Given the description of an element on the screen output the (x, y) to click on. 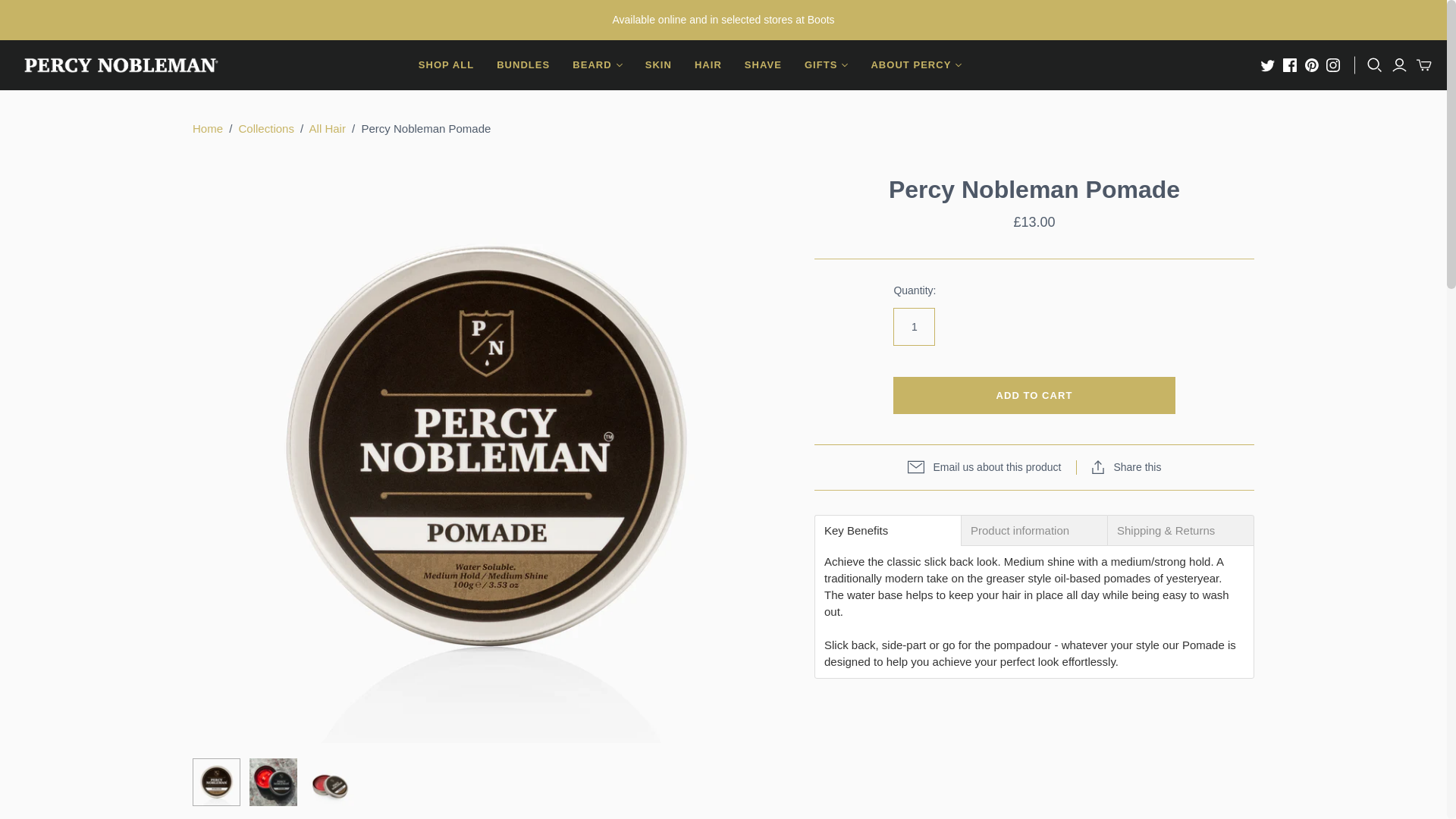
BUNDLES (522, 64)
GIFTS (826, 64)
BEARD (596, 64)
HAIR (707, 64)
SHOP ALL (445, 64)
SKIN (657, 64)
SHAVE (763, 64)
ABOUT PERCY (915, 64)
1 (913, 326)
